Given the description of an element on the screen output the (x, y) to click on. 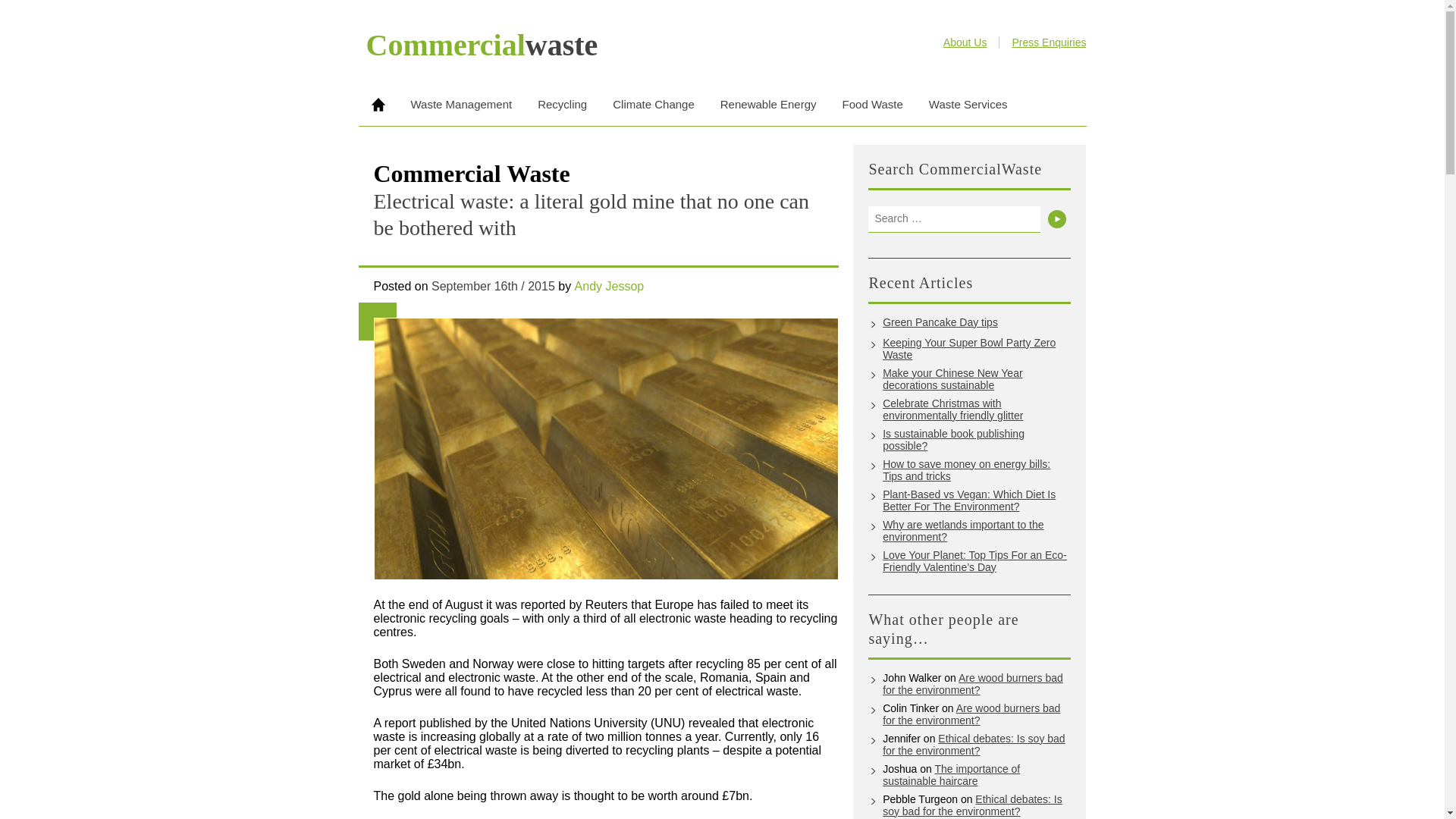
Climate Change (653, 104)
Are wood burners bad for the environment? (970, 713)
Commercial waste (480, 45)
Why are wetlands important to the environment? (976, 530)
Renewable Energy (768, 104)
Keeping Your Super Bowl Party Zero Waste (976, 348)
Is sustainable book publishing possible? (976, 439)
Green Pancake Day tips (976, 321)
Are wood burners bad for the environment? (972, 683)
How to save money on energy bills: Tips and tricks (976, 469)
Press Enquiries (1048, 42)
Waste Management (460, 104)
About Us (965, 42)
Ethical debates: Is soy bad for the environment? (972, 805)
